Given the description of an element on the screen output the (x, y) to click on. 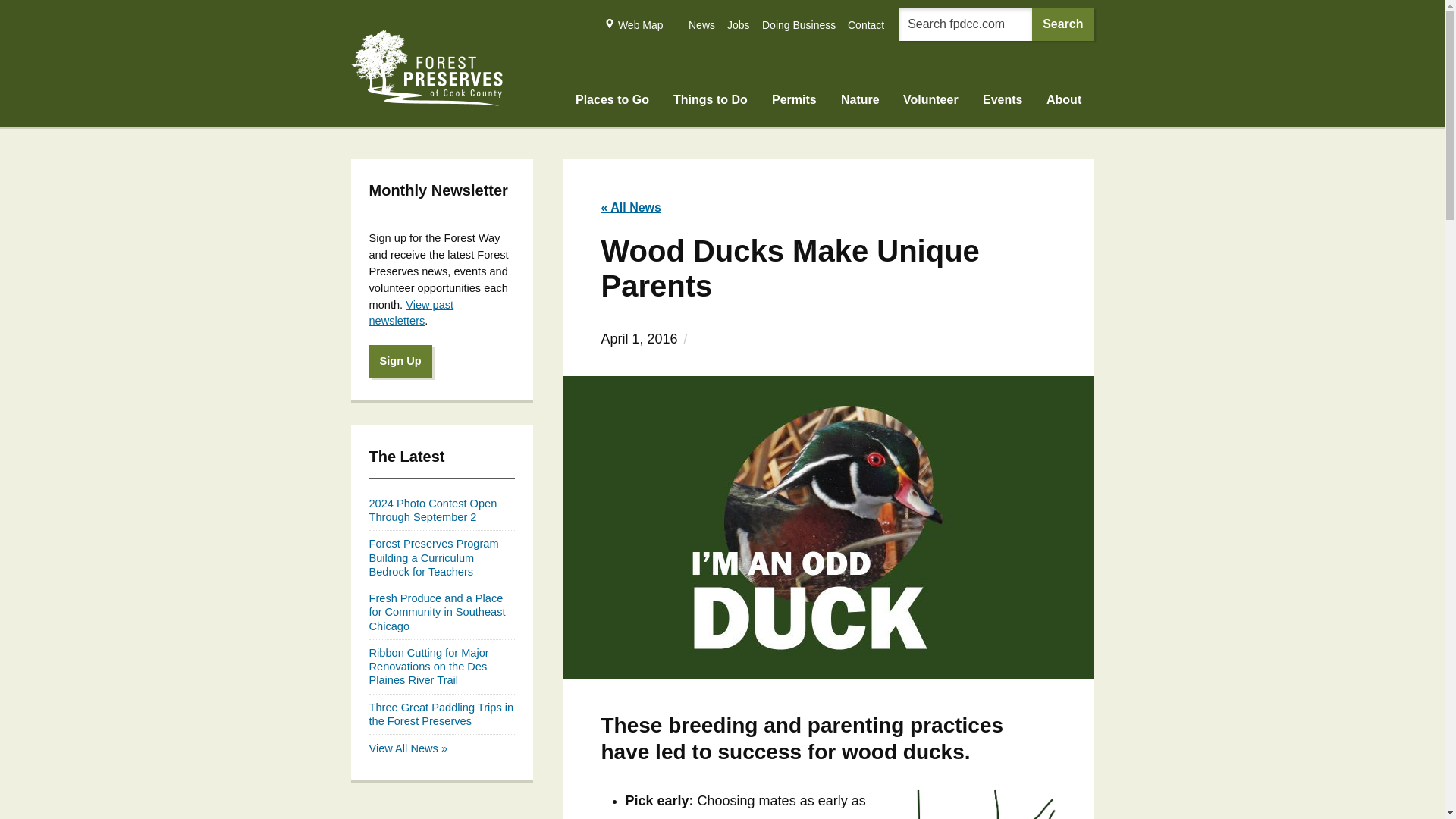
Mail (609, 22)
Search (1062, 23)
Places to Go (612, 108)
Search (1062, 23)
Search (1062, 23)
Things to Do (426, 69)
Map marker icon (710, 108)
